Given the description of an element on the screen output the (x, y) to click on. 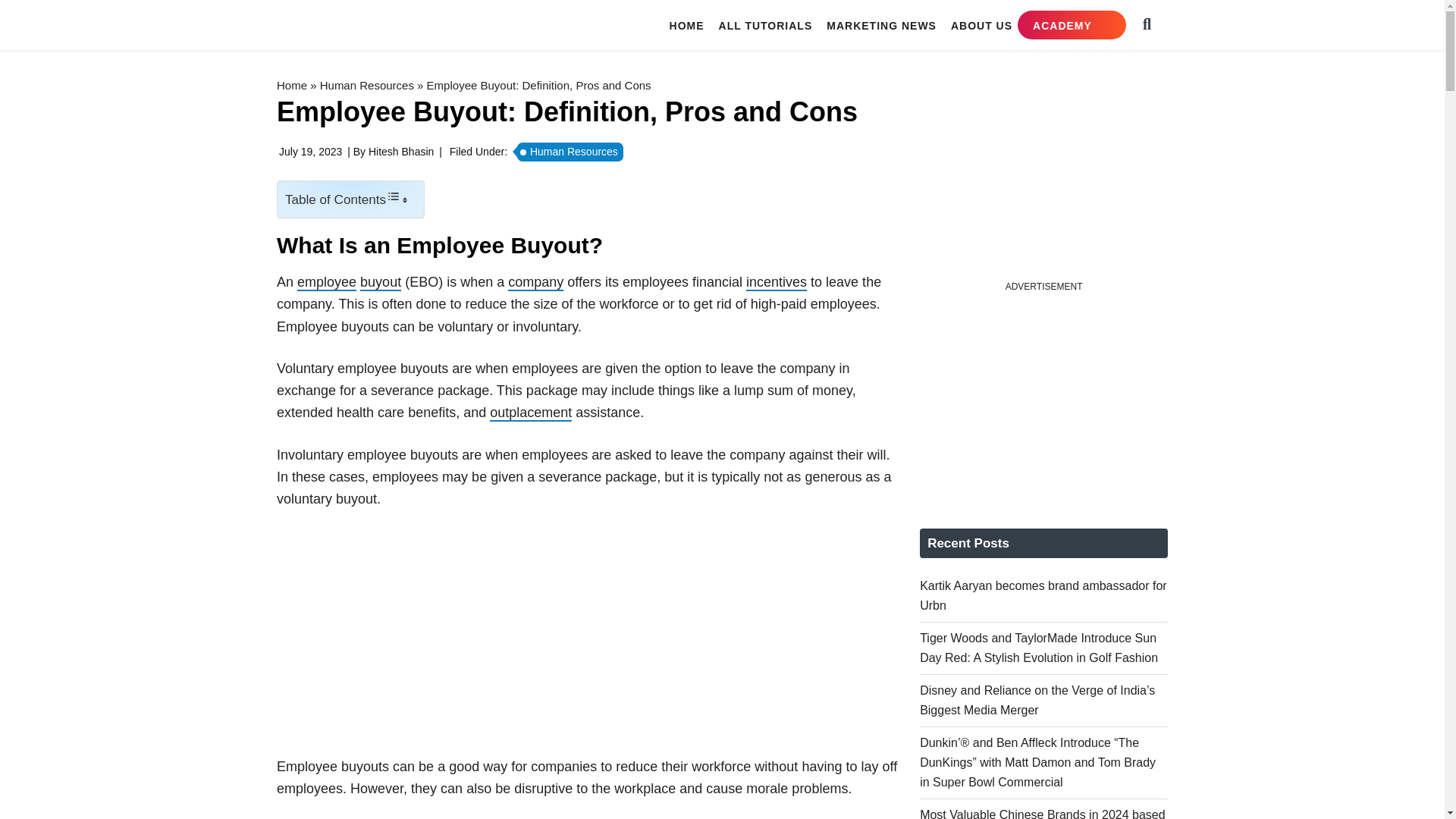
ALL TUTORIALS (766, 24)
HOME (687, 24)
MARKETING91 (369, 24)
